Given the description of an element on the screen output the (x, y) to click on. 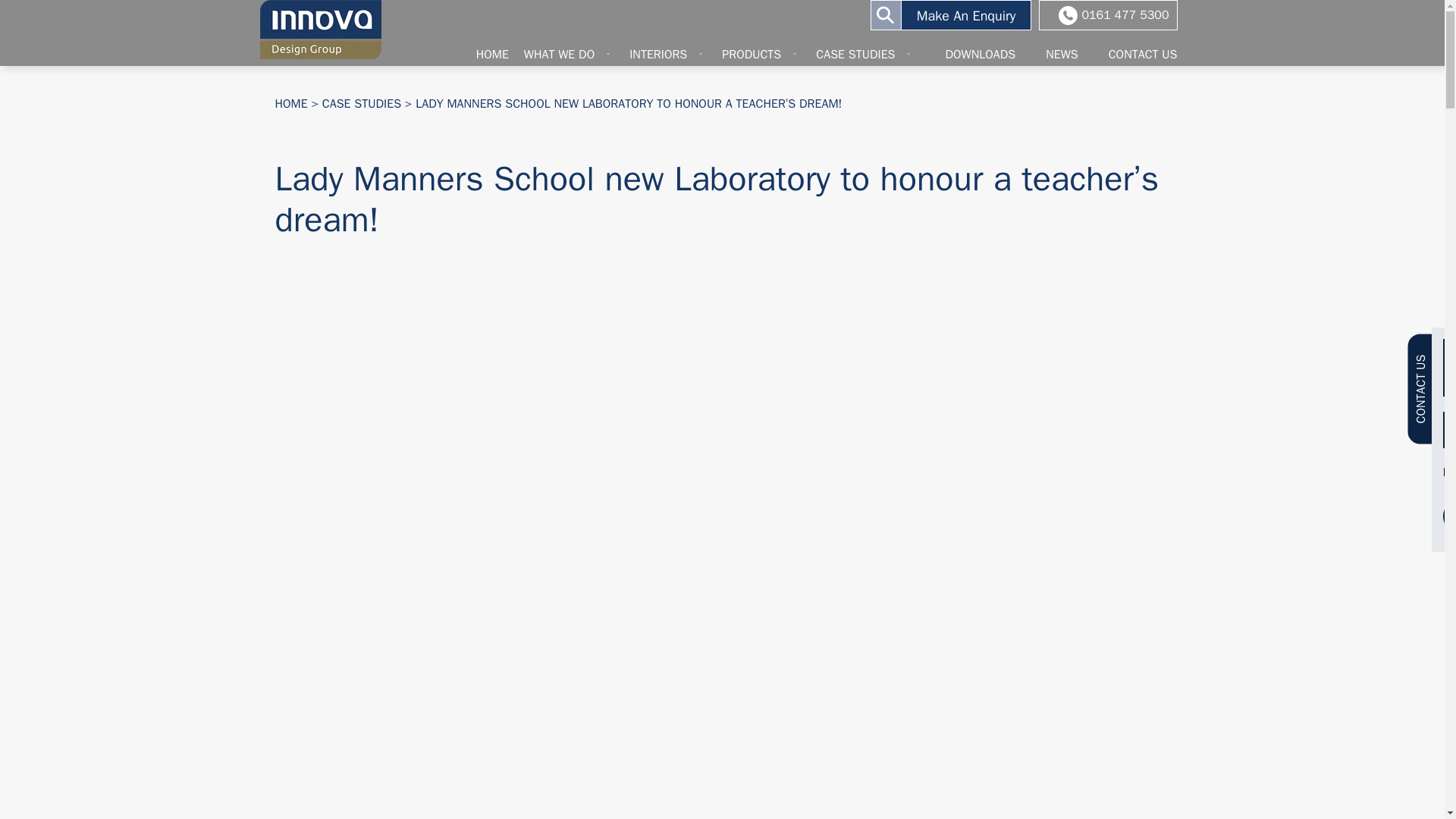
Make An Enquiry (966, 15)
INTERIORS (675, 54)
Make an enquiry (966, 15)
0161 477 5300 (1125, 15)
HOME (492, 54)
WHAT WE DO (576, 54)
